Given the description of an element on the screen output the (x, y) to click on. 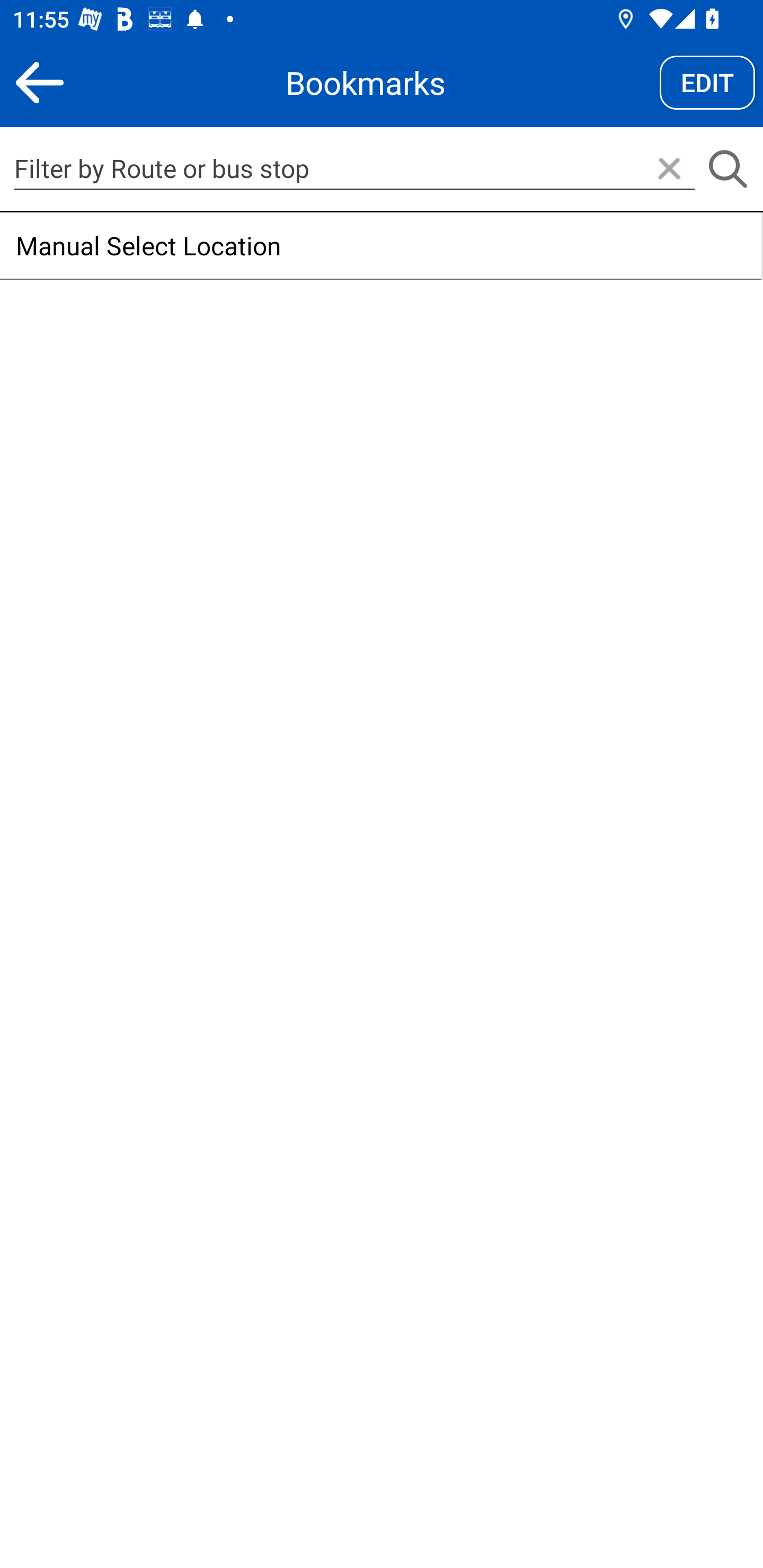
Back (39, 82)
EDIT Edit (707, 81)
Filter by Route or bus stop (354, 168)
Search (727, 169)
Clear (669, 169)
Manual Select Location (380, 245)
